Given the description of an element on the screen output the (x, y) to click on. 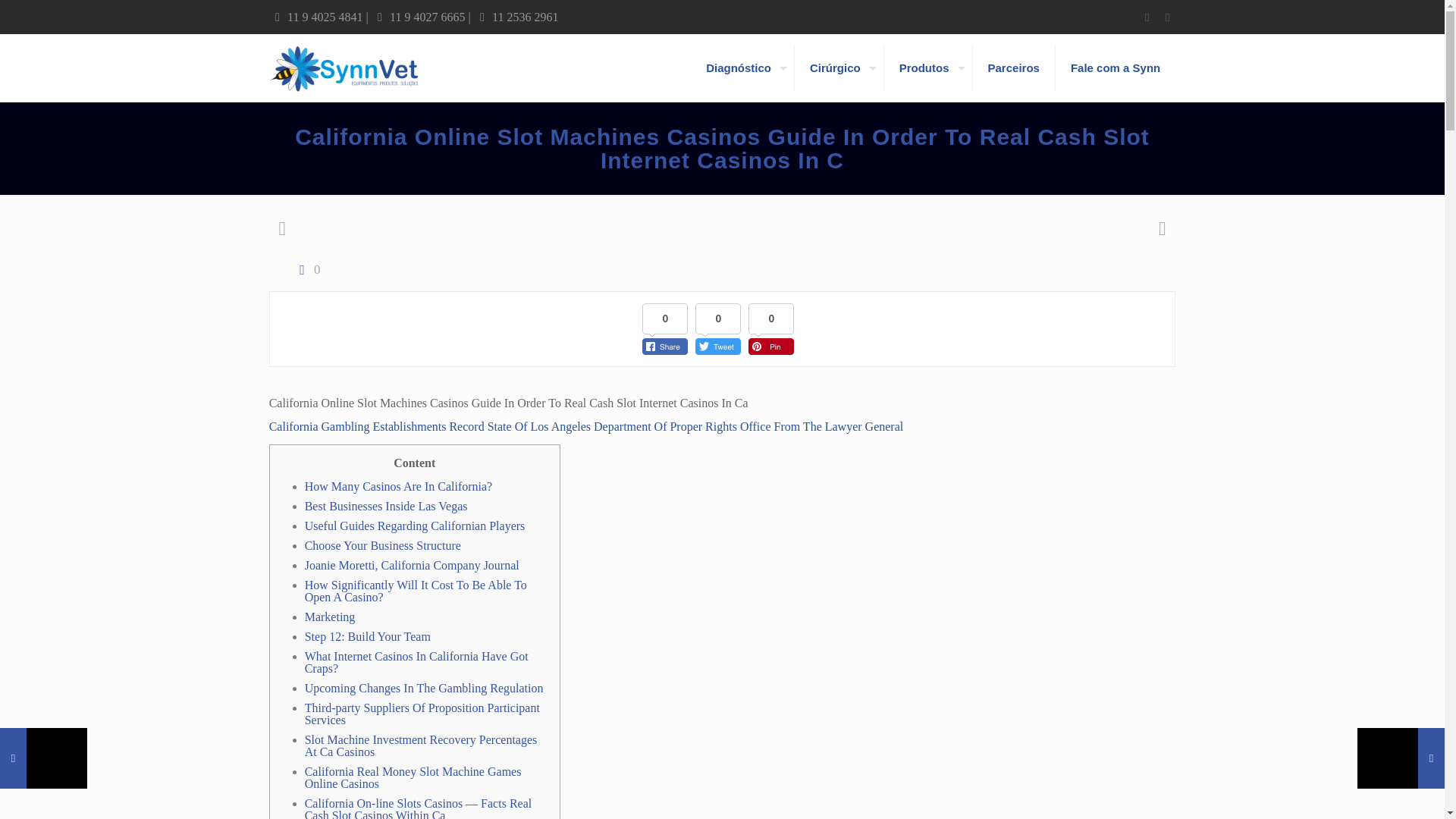
Instagram (1166, 17)
Facebook (1146, 17)
Produtos (927, 68)
Synn (343, 68)
